Given the description of an element on the screen output the (x, y) to click on. 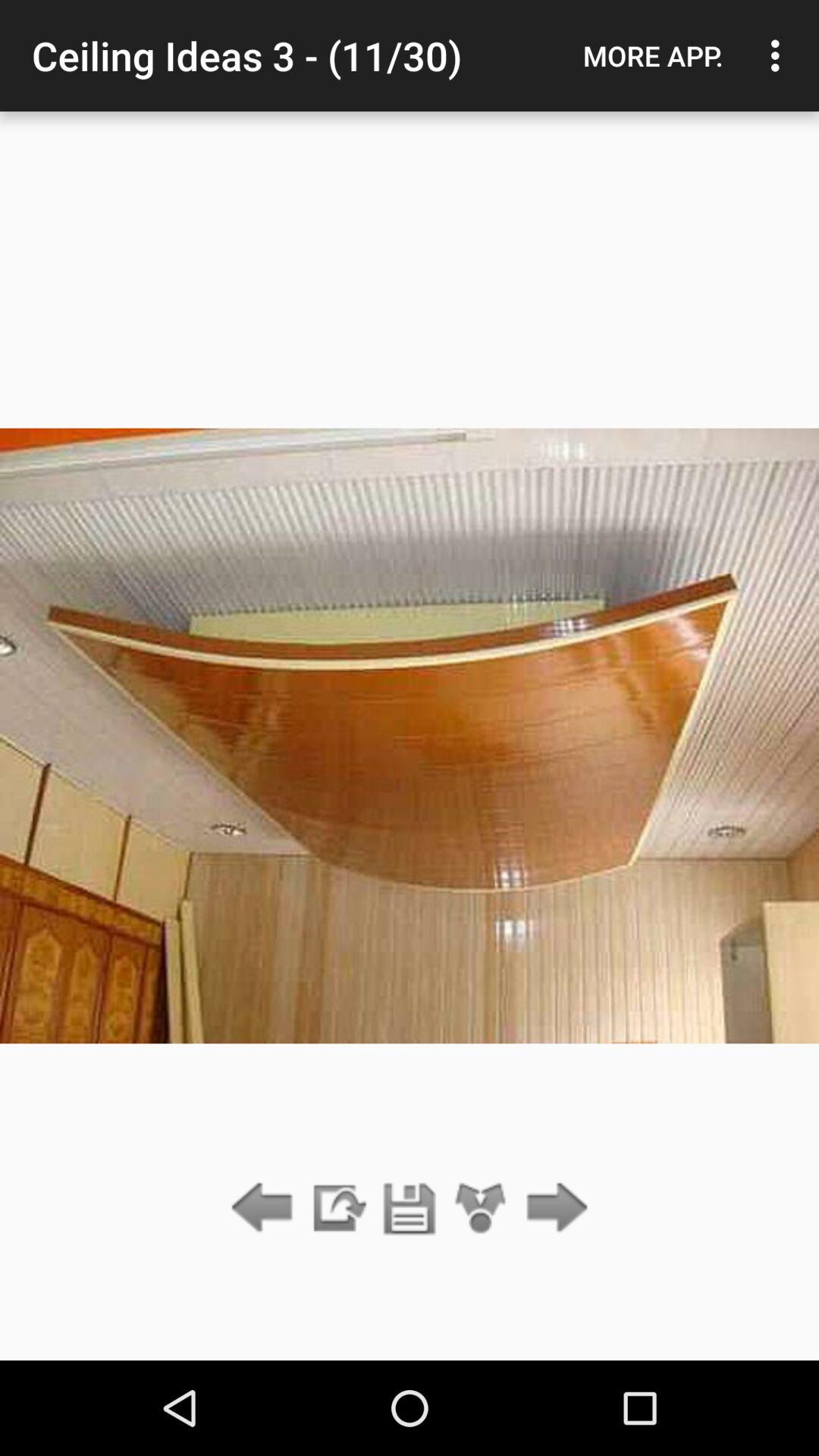
set as wallpaper (480, 1208)
